Given the description of an element on the screen output the (x, y) to click on. 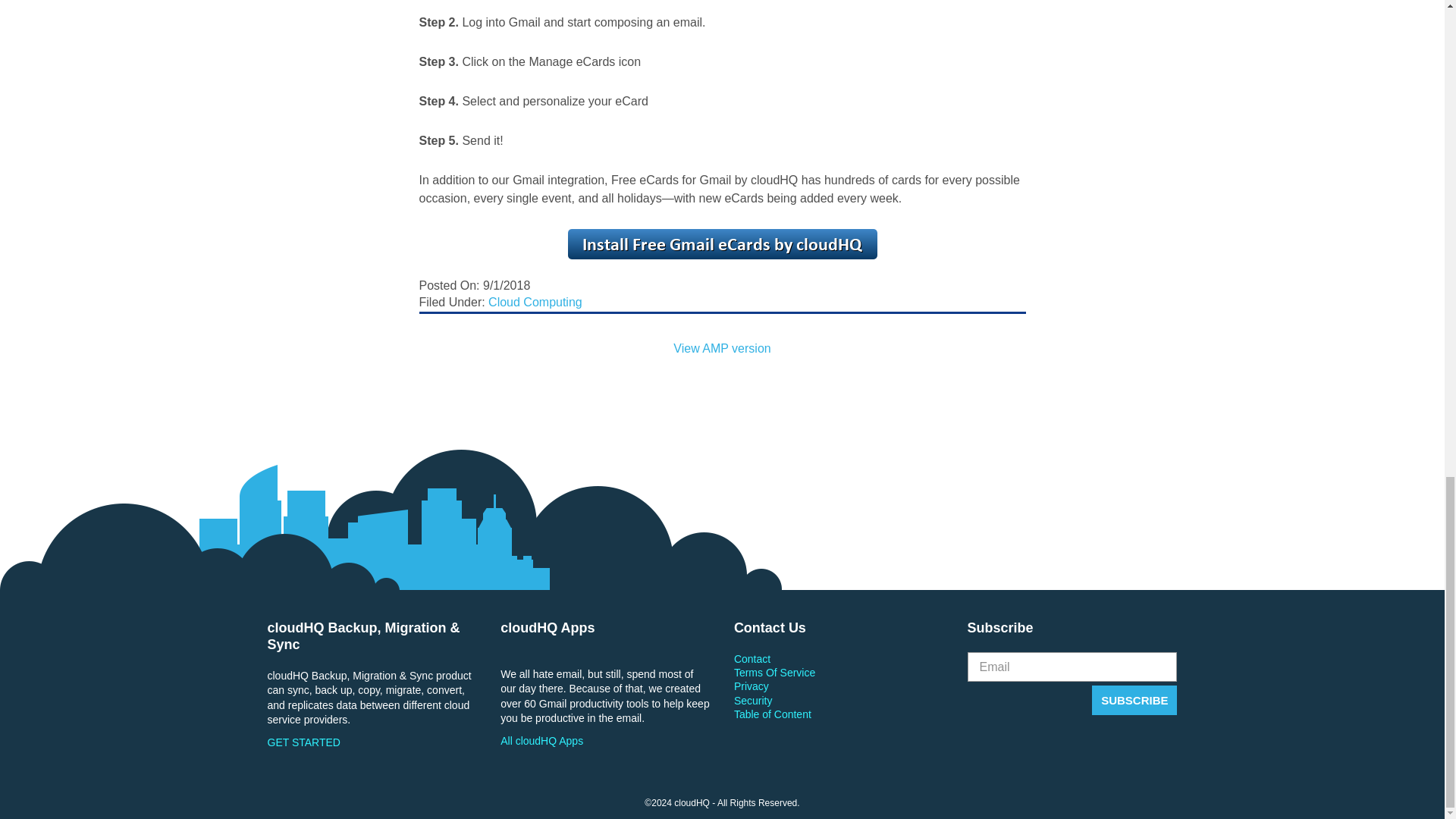
Subscribe (1134, 699)
Security (838, 700)
Terms Of Service (838, 672)
Privacy (838, 685)
Contact (838, 658)
